Given the description of an element on the screen output the (x, y) to click on. 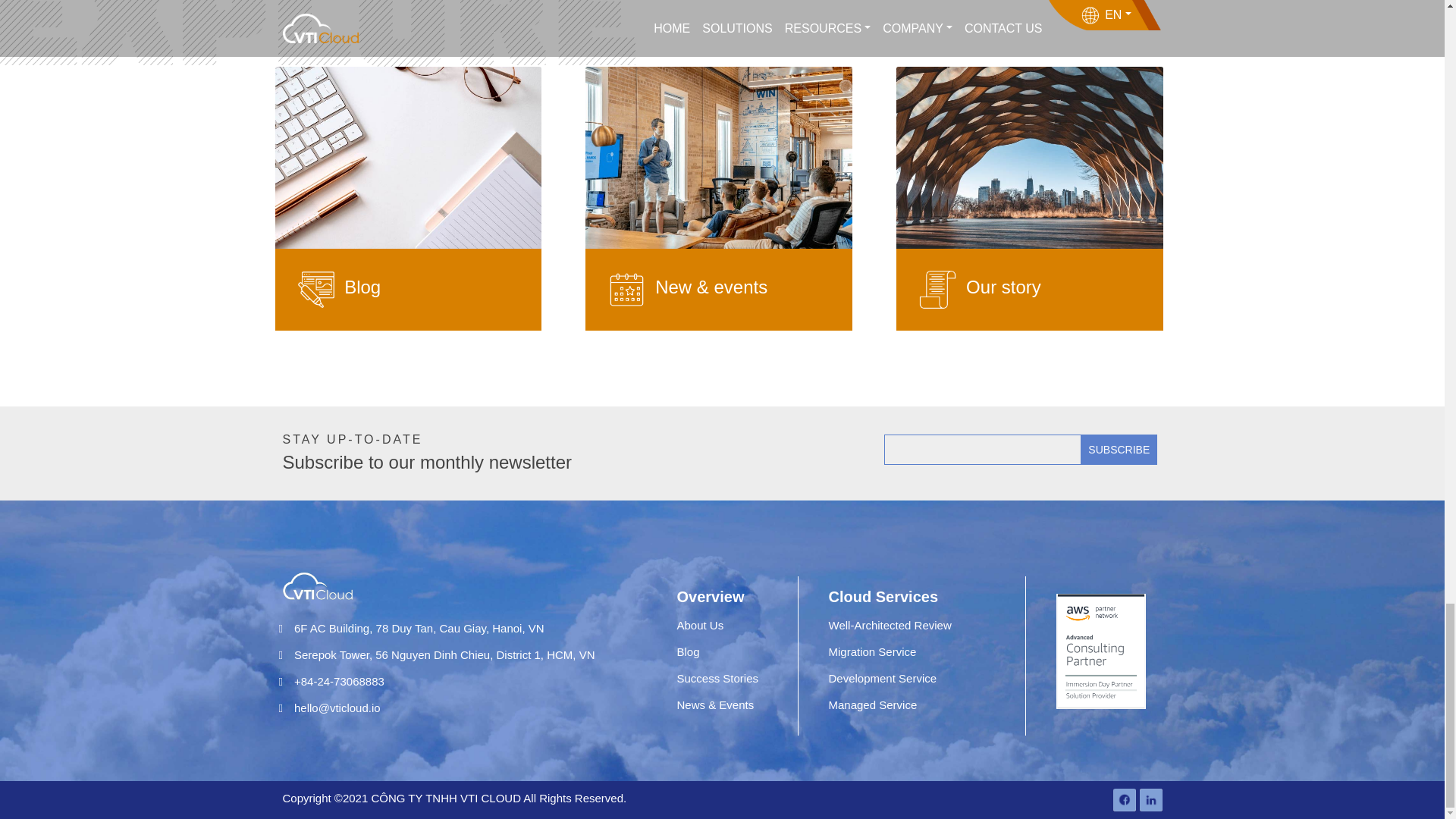
6F AC Building, 78 Duy Tan, Cau Giay, Hanoi, VN (411, 627)
About Us (700, 625)
Our story (1003, 286)
Blog (361, 286)
Subscribe (1119, 449)
Serepok Tower, 56 Nguyen Dinh Chieu, District 1, HCM, VN (437, 654)
Subscribe (1119, 449)
Blog (687, 651)
